Given the description of an element on the screen output the (x, y) to click on. 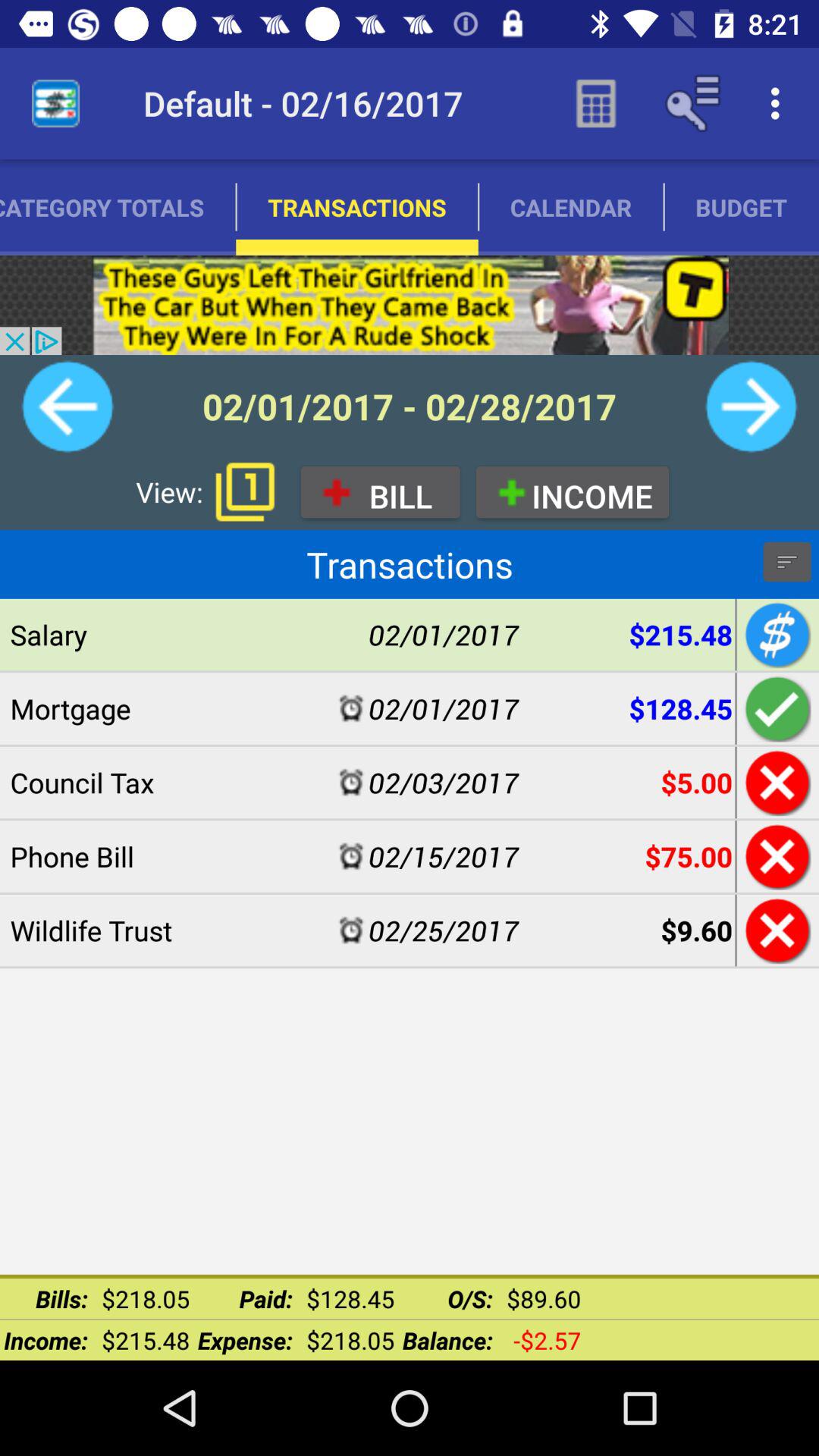
see the money (775, 634)
